Given the description of an element on the screen output the (x, y) to click on. 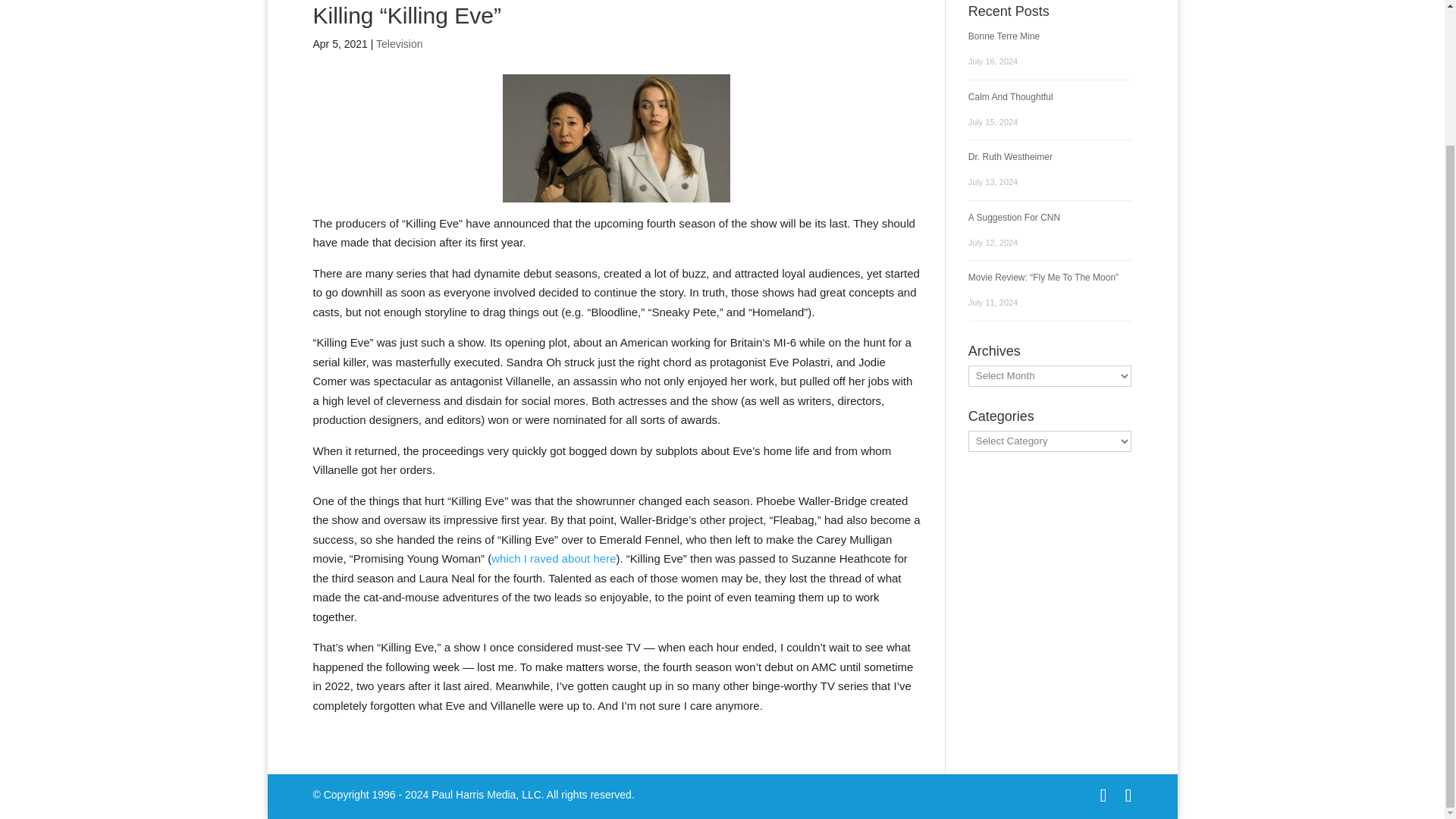
Bonne Terre Mine (1004, 36)
Calm And Thoughtful (1010, 96)
which I raved about here (553, 558)
Television (398, 43)
Dr. Ruth Westheimer (1010, 156)
A Suggestion For CNN (1013, 216)
